Given the description of an element on the screen output the (x, y) to click on. 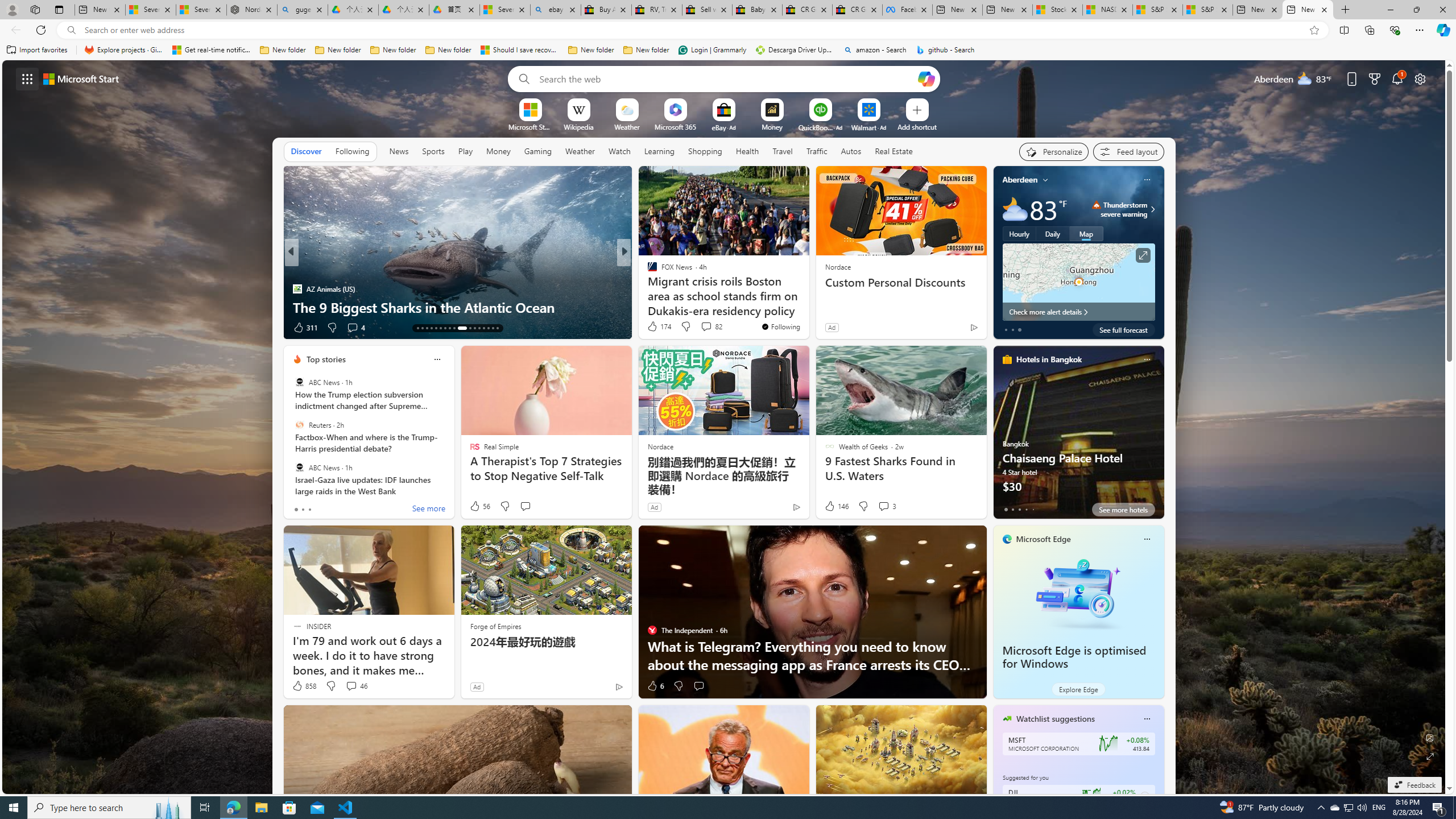
RV, Trailer & Camper Steps & Ladders for sale | eBay (656, 9)
Microsoft start (81, 78)
Learning (659, 151)
AutomationID: tab-21 (454, 328)
Open Copilot (925, 78)
Thunderstorm - Severe (1097, 204)
Expand background (1430, 756)
Hotels in Bangkok (1048, 359)
Explore Edge (1078, 689)
6 Like (655, 685)
4-year-old accidentally shatters Bronze Age jar at museum (807, 298)
Money (497, 151)
github - Search (945, 49)
